Given the description of an element on the screen output the (x, y) to click on. 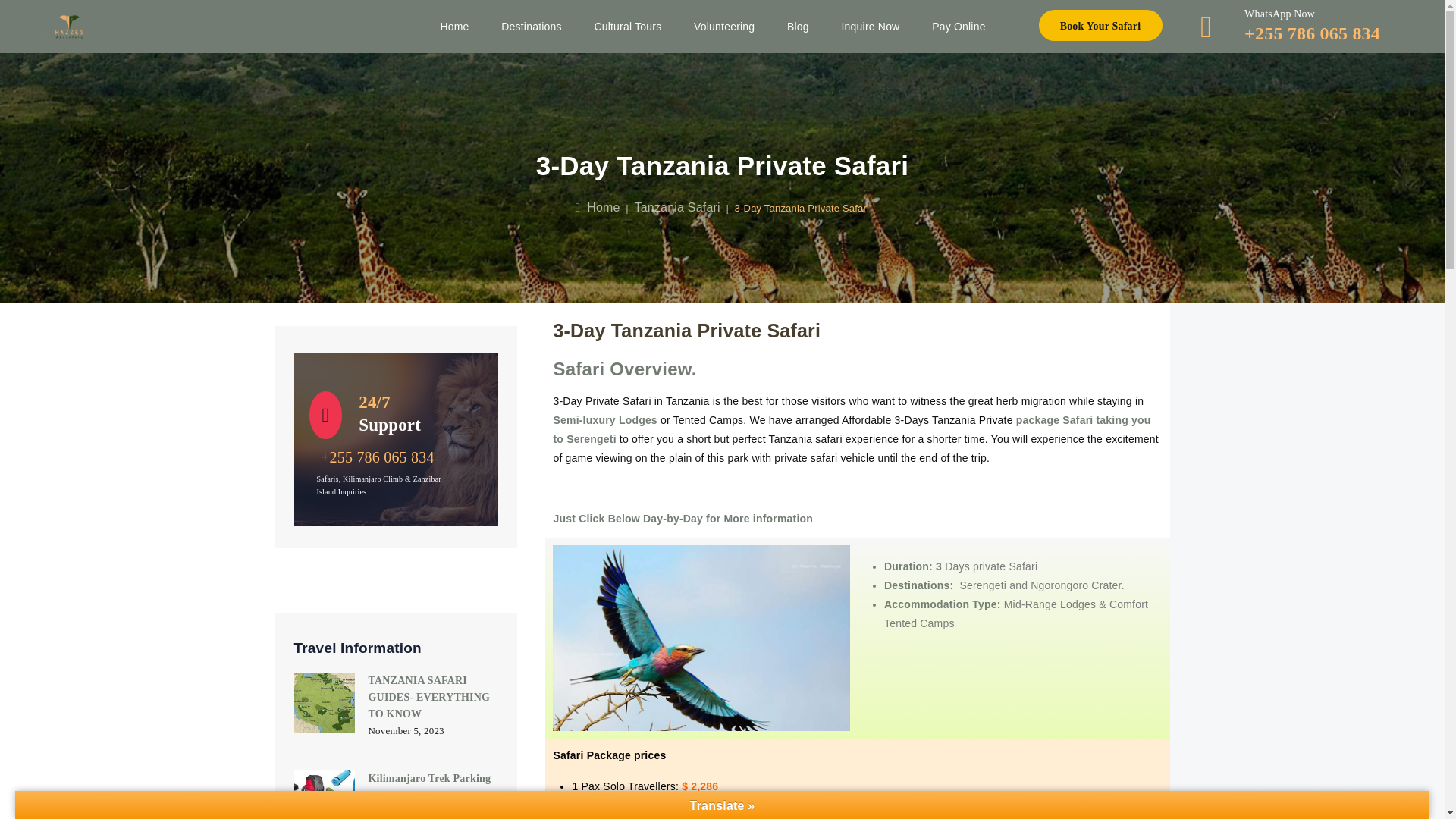
Volunteering (724, 26)
Kilimanjaro Trek Parking List (430, 786)
Go to the Tanzania Safari Tours Category archives. (676, 205)
Hazzes Adventure (69, 26)
Semi-luxury Lodges (604, 419)
Cultural Tours (628, 26)
Destinations (531, 26)
Pay Online (959, 26)
Tanzania Safari (676, 205)
  Home (597, 205)
package Safari taking you to Serengeti (851, 429)
Inquire Now (872, 26)
Go to Hazzes Adventure. (597, 205)
Book Your Safari (1101, 24)
TANZANIA SAFARI GUIDES- EVERYTHING TO KNOW (429, 696)
